Given the description of an element on the screen output the (x, y) to click on. 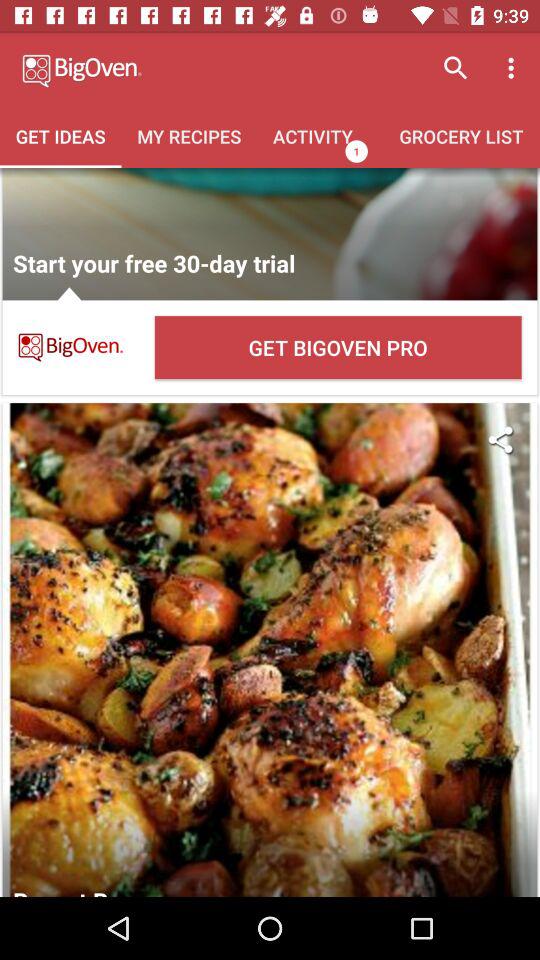
start your free 30-day trial by clicking here (269, 234)
